Given the description of an element on the screen output the (x, y) to click on. 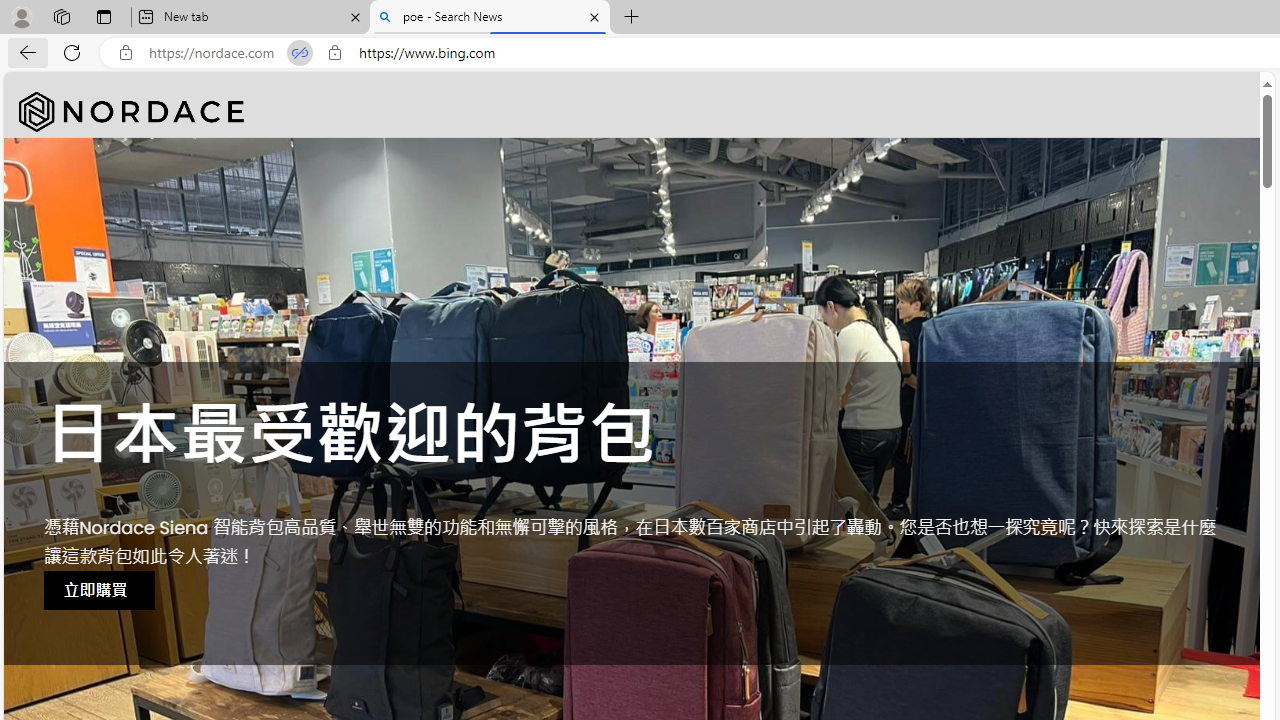
Tabs in split screen (299, 53)
poe - Search News (490, 17)
